Given the description of an element on the screen output the (x, y) to click on. 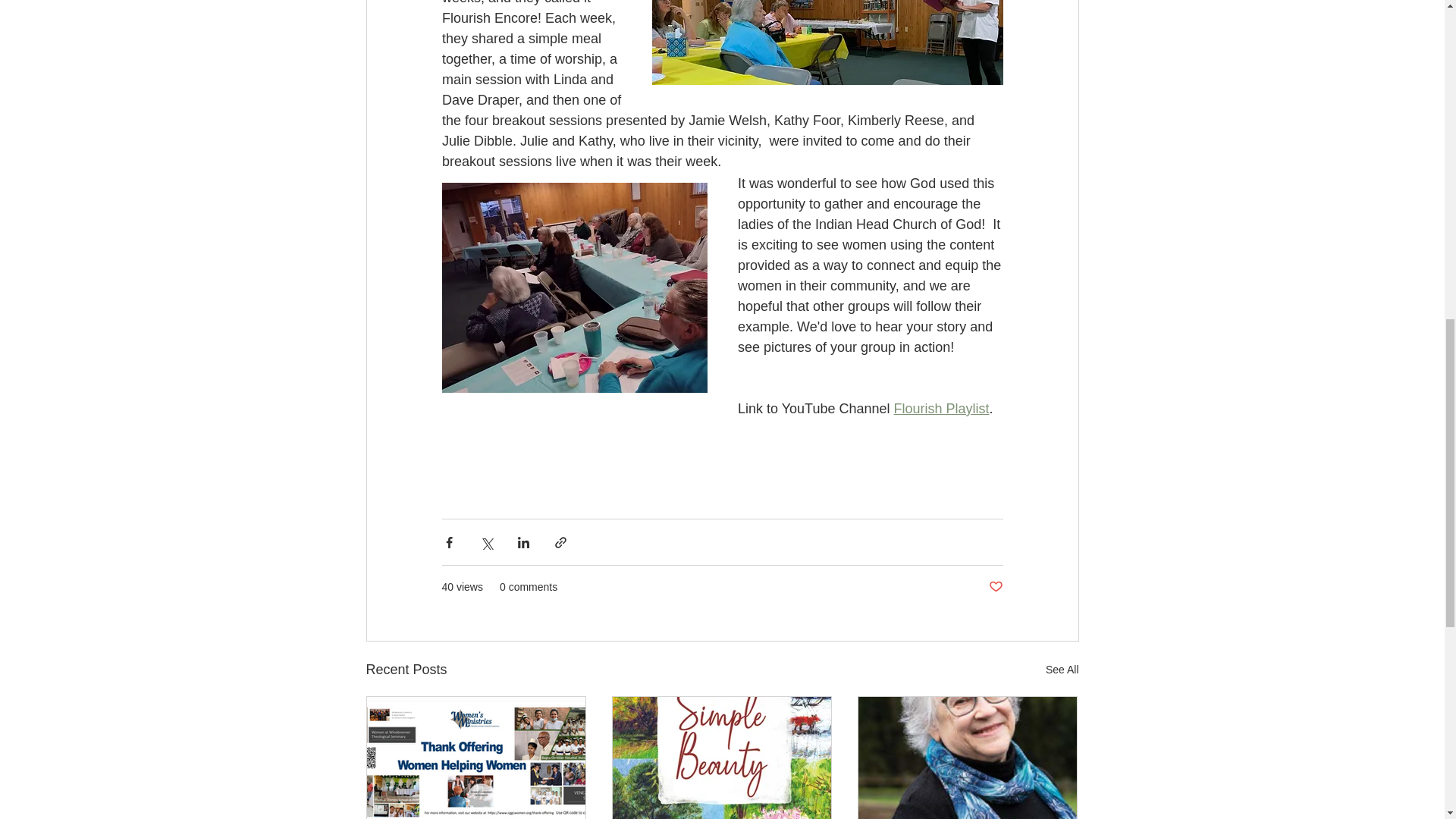
See All (1061, 669)
Post not marked as liked (995, 587)
Flourish Playlist (940, 408)
